Given the description of an element on the screen output the (x, y) to click on. 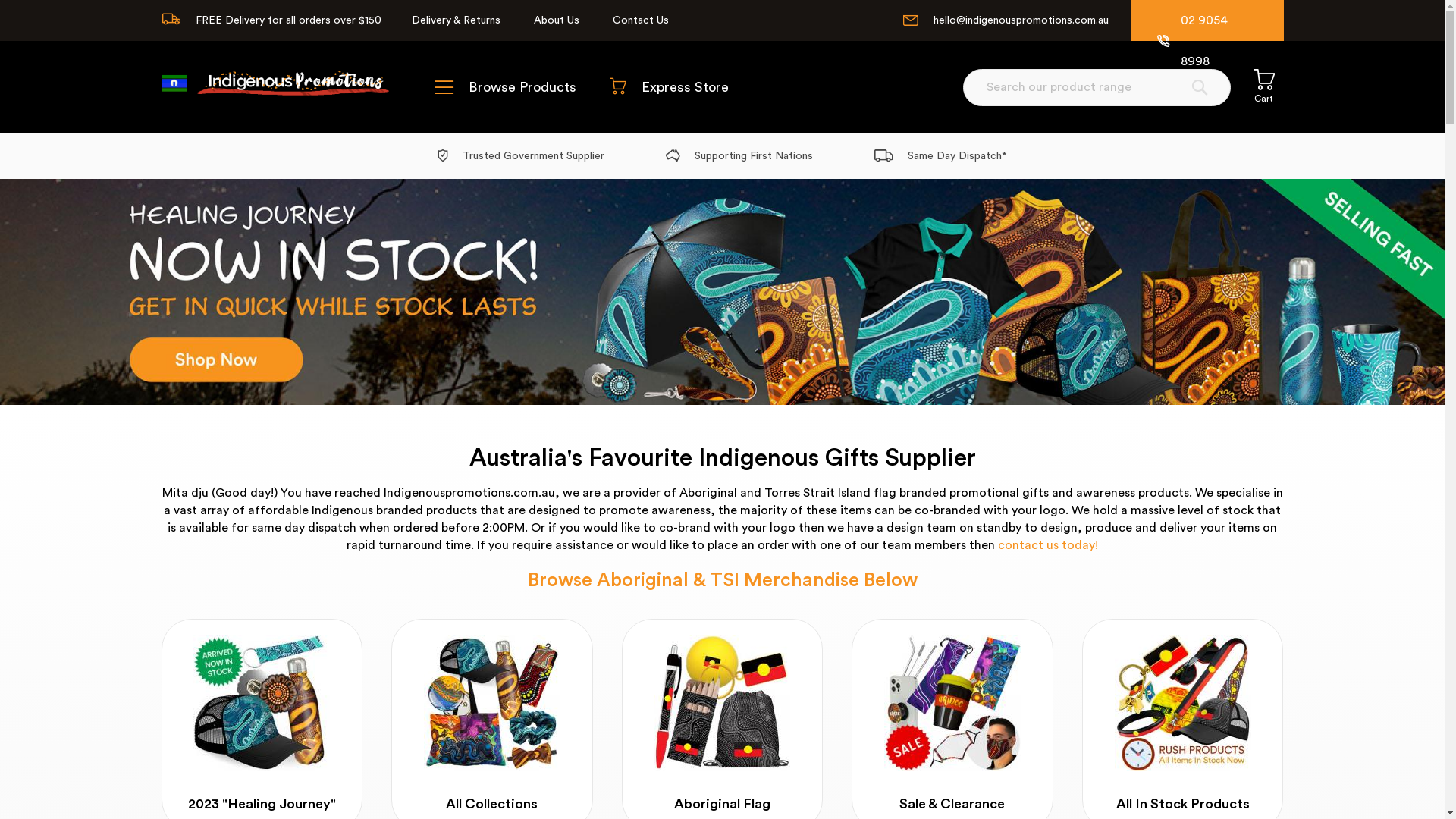
contact us today! Element type: text (1047, 545)
Contact Us Element type: text (640, 20)
Browse Products Element type: text (504, 87)
Indigenous Promotions Element type: hover (274, 84)
Search Element type: text (1198, 86)
All In Stock Products Element type: hover (1182, 702)
2023  Element type: hover (261, 702)
All Collections Element type: hover (491, 702)
Aboriginal Flag Element type: hover (721, 702)
hello@indigenouspromotions.com.au Element type: text (1004, 20)
Delivery & Returns Element type: text (454, 20)
About Us Element type: text (556, 20)
02 9054 8998 Element type: text (1207, 40)
FREE Delivery for all orders over $150 Element type: text (270, 20)
Sale & Clearance Element type: hover (952, 702)
Healing Journey Element type: hover (722, 291)
Cart Element type: text (1263, 86)
Express Store Element type: text (668, 87)
